Given the description of an element on the screen output the (x, y) to click on. 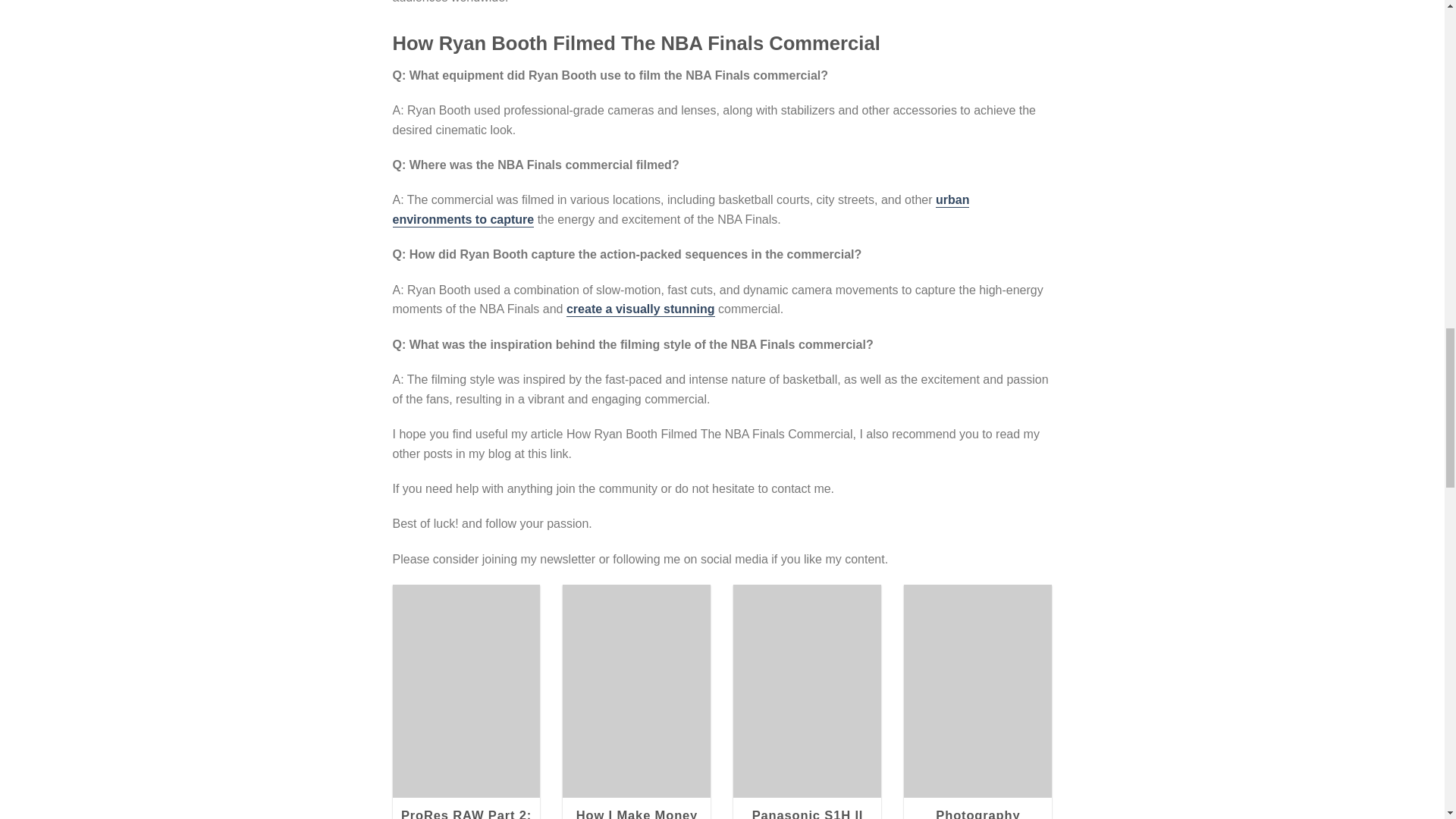
Panasonic S1H II This Fall, But No S1 II After 6 Years! (807, 813)
How I Make Money From Photography (636, 813)
create a visually stunning (640, 309)
urban environments to capture (681, 210)
